Given the description of an element on the screen output the (x, y) to click on. 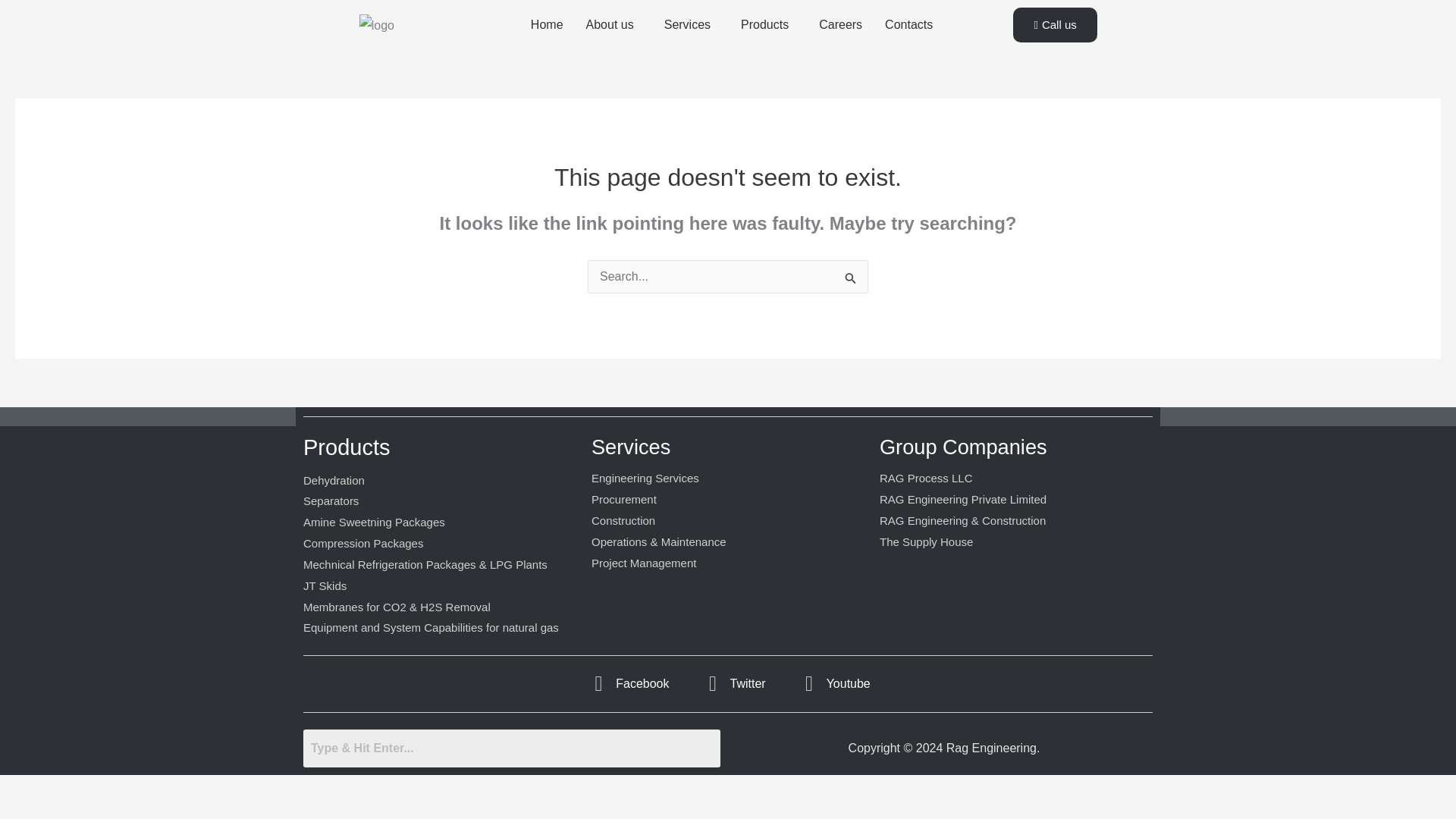
Contacts (914, 45)
About us (609, 45)
Search (511, 789)
Careers (846, 45)
Products (772, 45)
logo (376, 45)
Home (541, 45)
Services (690, 45)
Call us (1054, 45)
